Given the description of an element on the screen output the (x, y) to click on. 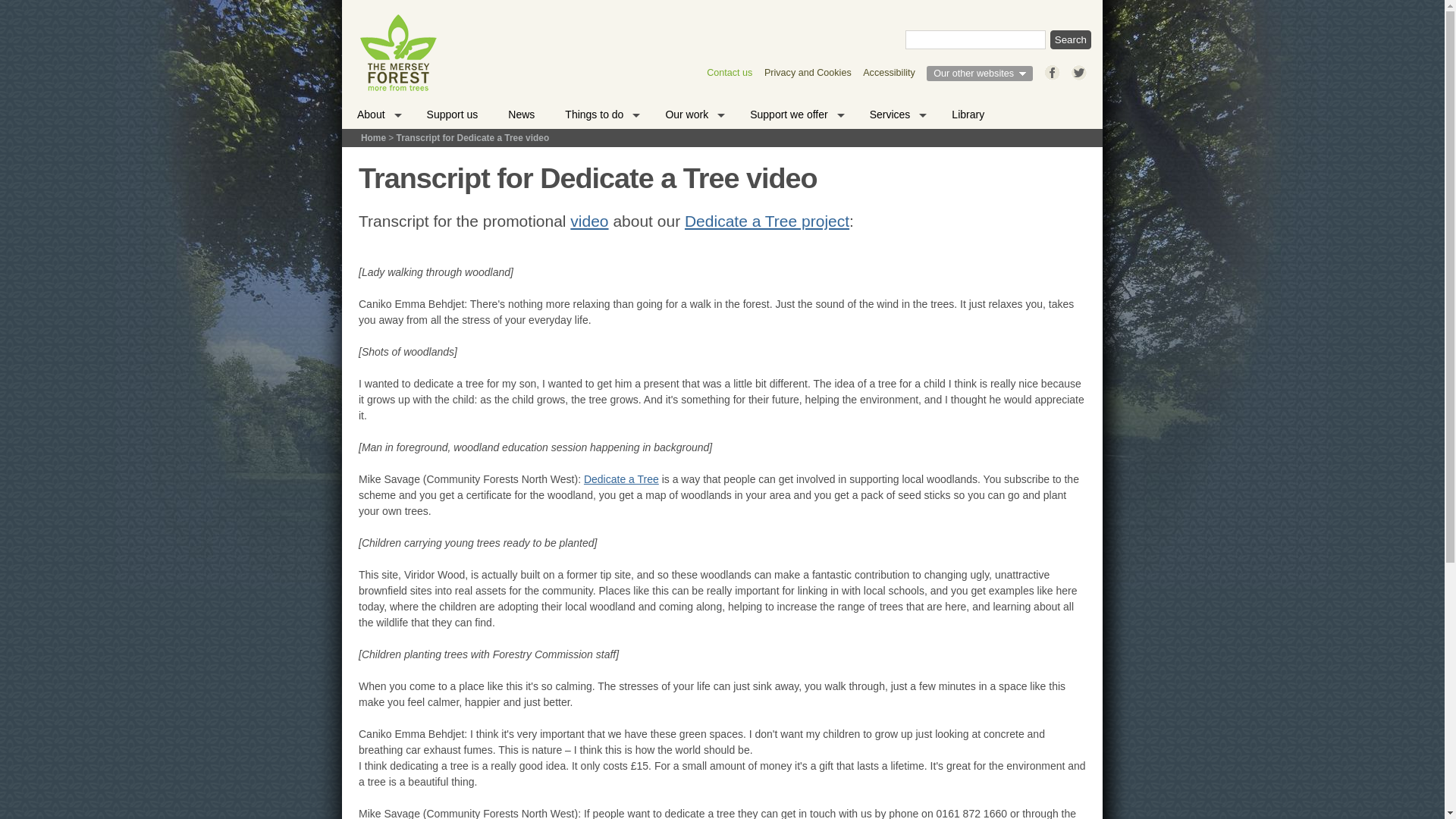
Visit the Dedicate a Tree website (621, 479)
News (521, 114)
Search (1069, 39)
Our work (692, 114)
Support us (452, 114)
About (377, 114)
Follow The Mersey Forest on Twitter (1078, 68)
Like The Mersey Forest on Facebook (1052, 68)
Watch the video on YouTube (589, 221)
Things to do (599, 114)
Visit our Dedicate a Tree page (766, 221)
